Given the description of an element on the screen output the (x, y) to click on. 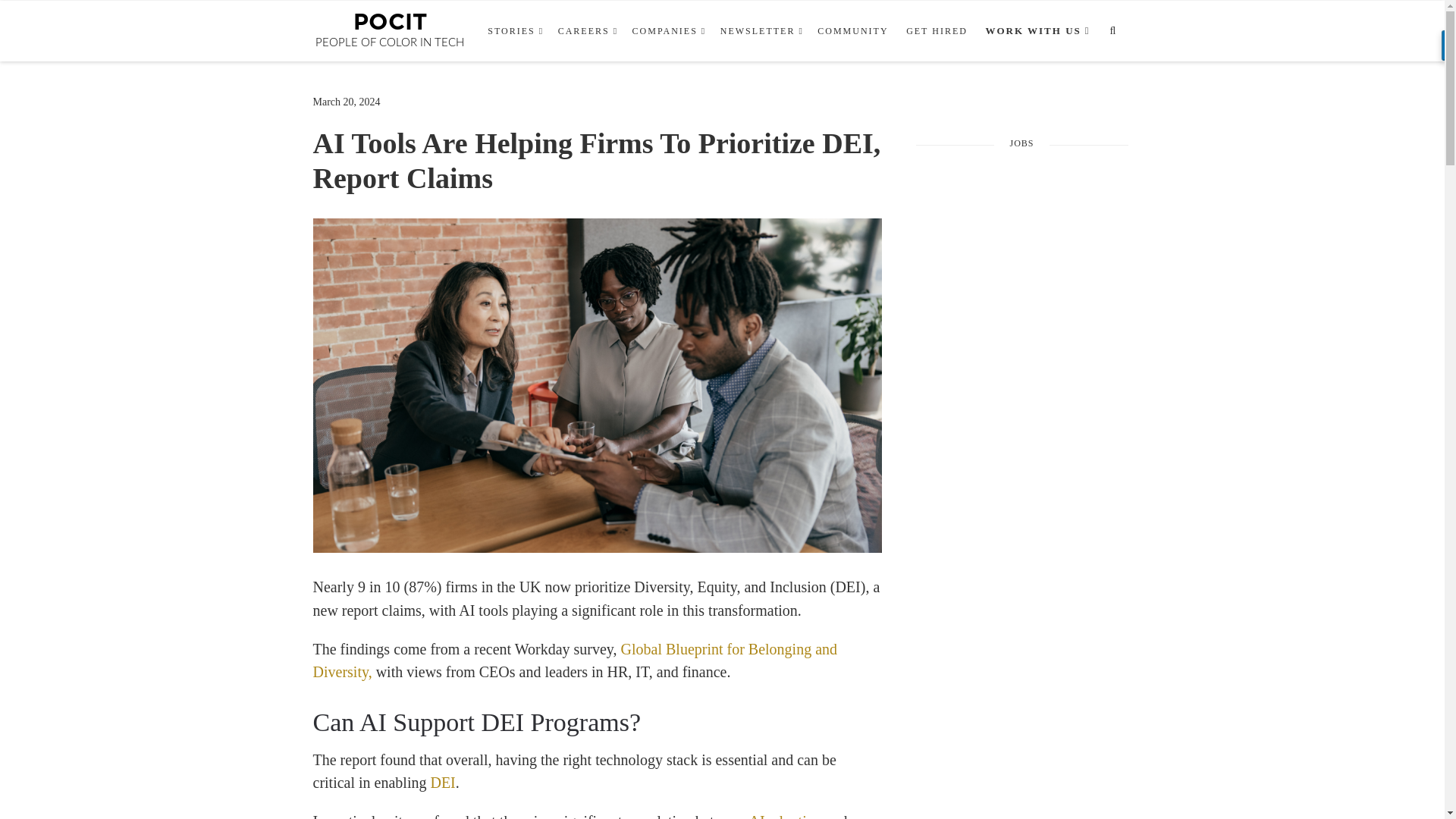
partner (1034, 30)
get-hired (936, 30)
